Given the description of an element on the screen output the (x, y) to click on. 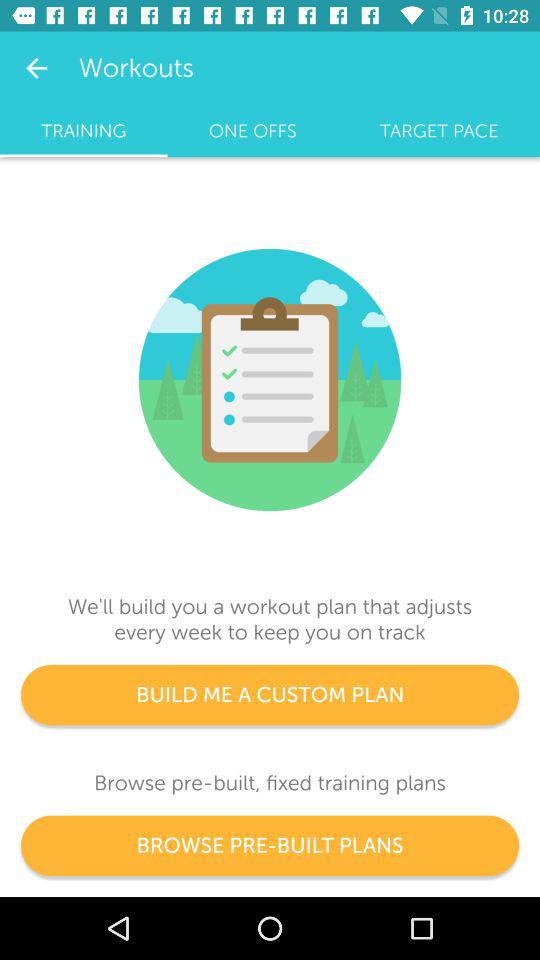
click the icon next to the target pace icon (252, 131)
